Given the description of an element on the screen output the (x, y) to click on. 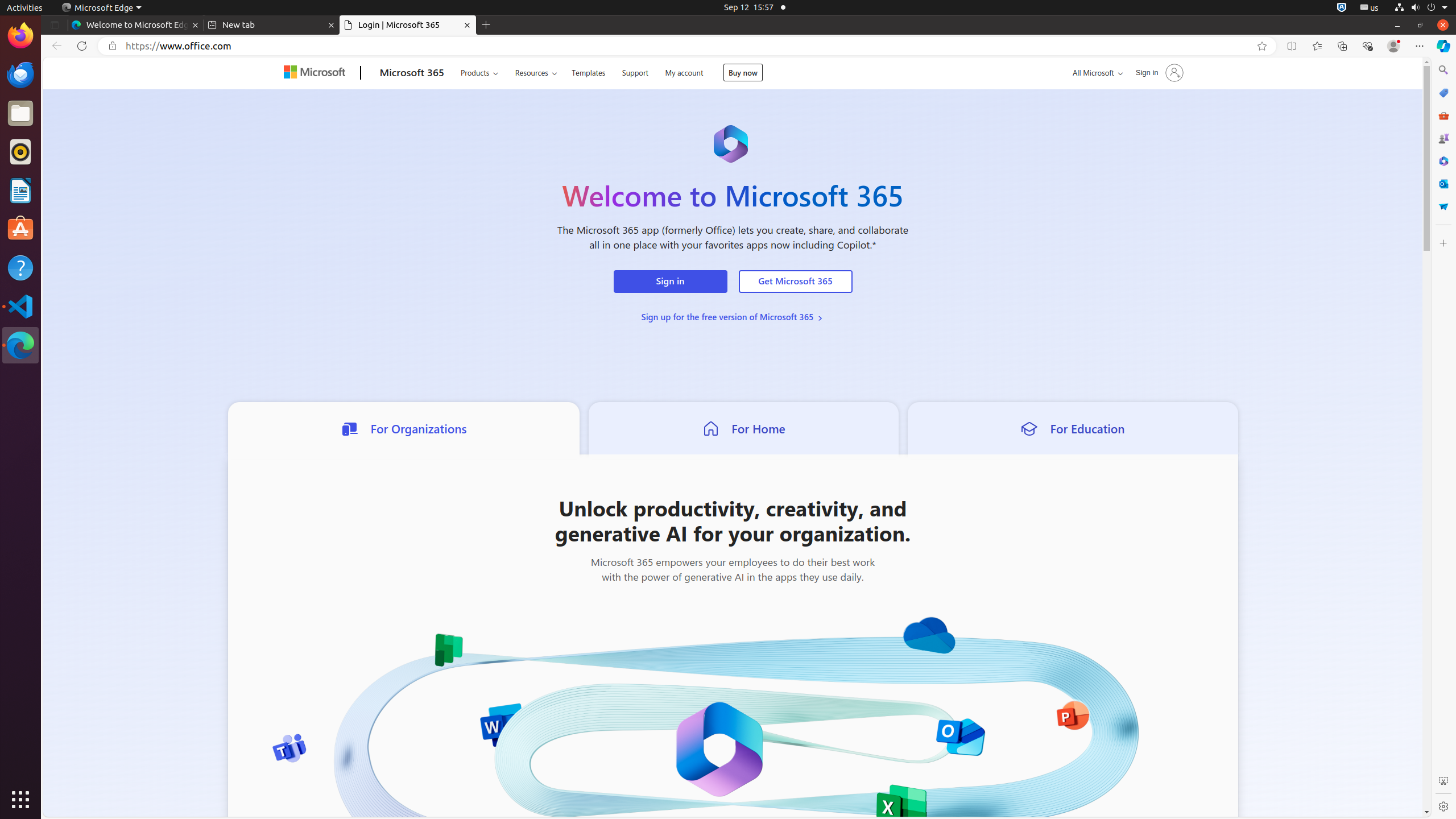
Favorites Element type: push-button (1316, 45)
Add this page to favorites (Ctrl+D) Element type: push-button (1261, 46)
Outlook Element type: push-button (1443, 183)
Settings Element type: push-button (1443, 806)
Microsoft Edge Element type: push-button (20, 344)
